Given the description of an element on the screen output the (x, y) to click on. 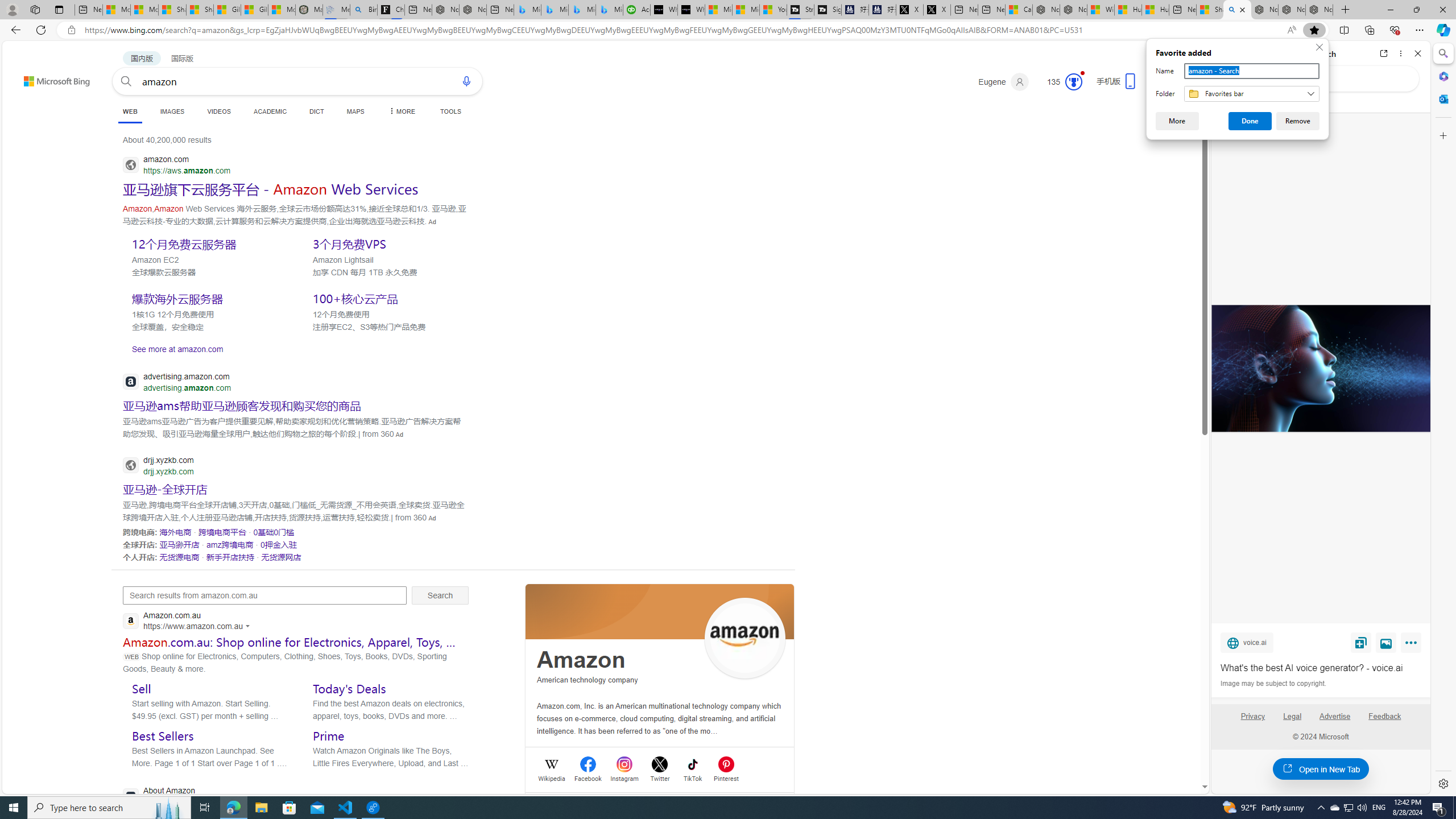
Best Sellers (162, 735)
Notification Chevron (1320, 807)
Search button (126, 80)
Legal (1292, 720)
DICT (316, 111)
Visual Studio Code - 1 running window (345, 807)
